Given the description of an element on the screen output the (x, y) to click on. 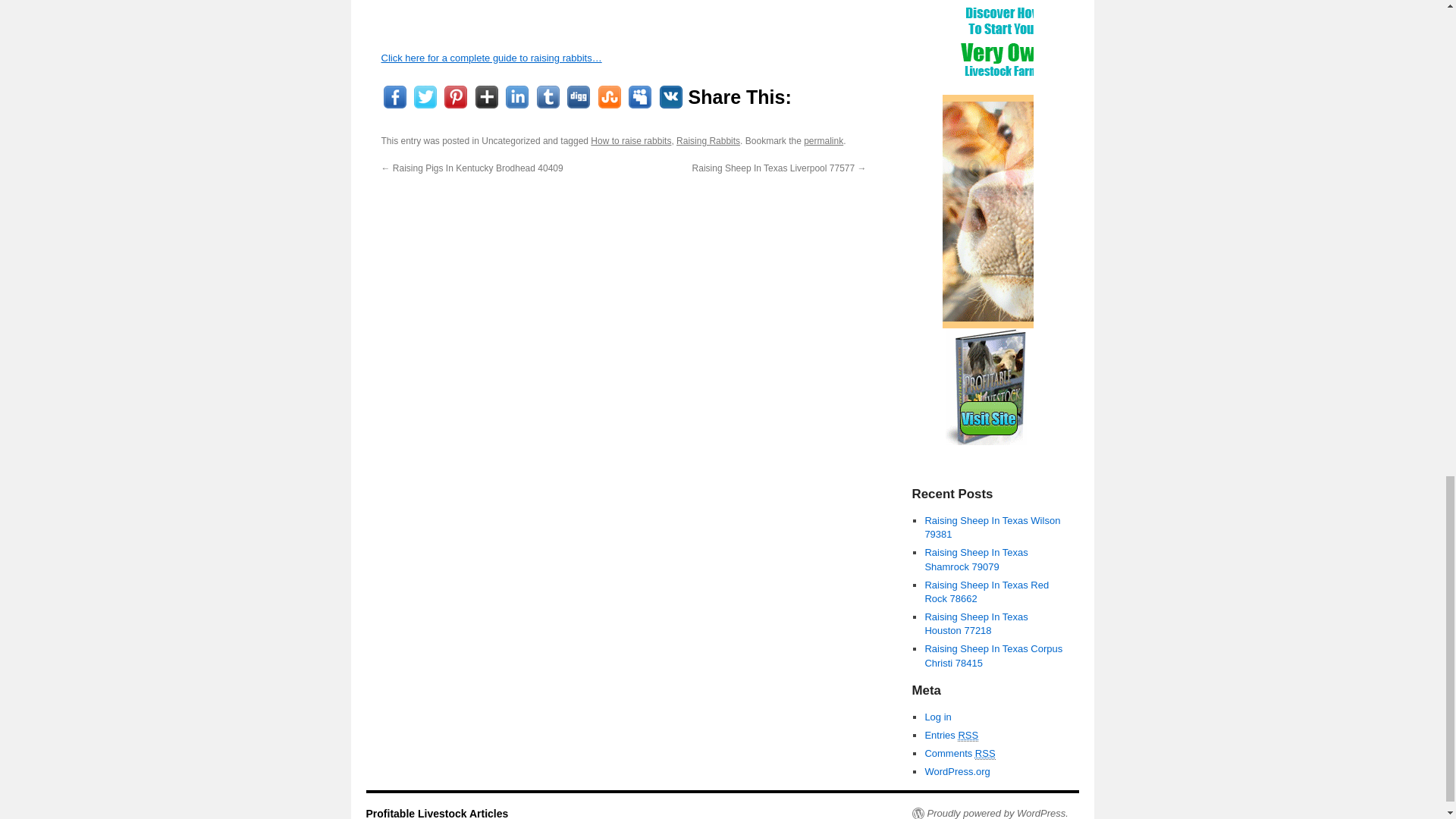
Really Simple Syndication (985, 753)
Really Simple Syndication (968, 735)
Raising Rabbits (708, 140)
permalink (823, 140)
How to raise rabbits (631, 140)
